Given the description of an element on the screen output the (x, y) to click on. 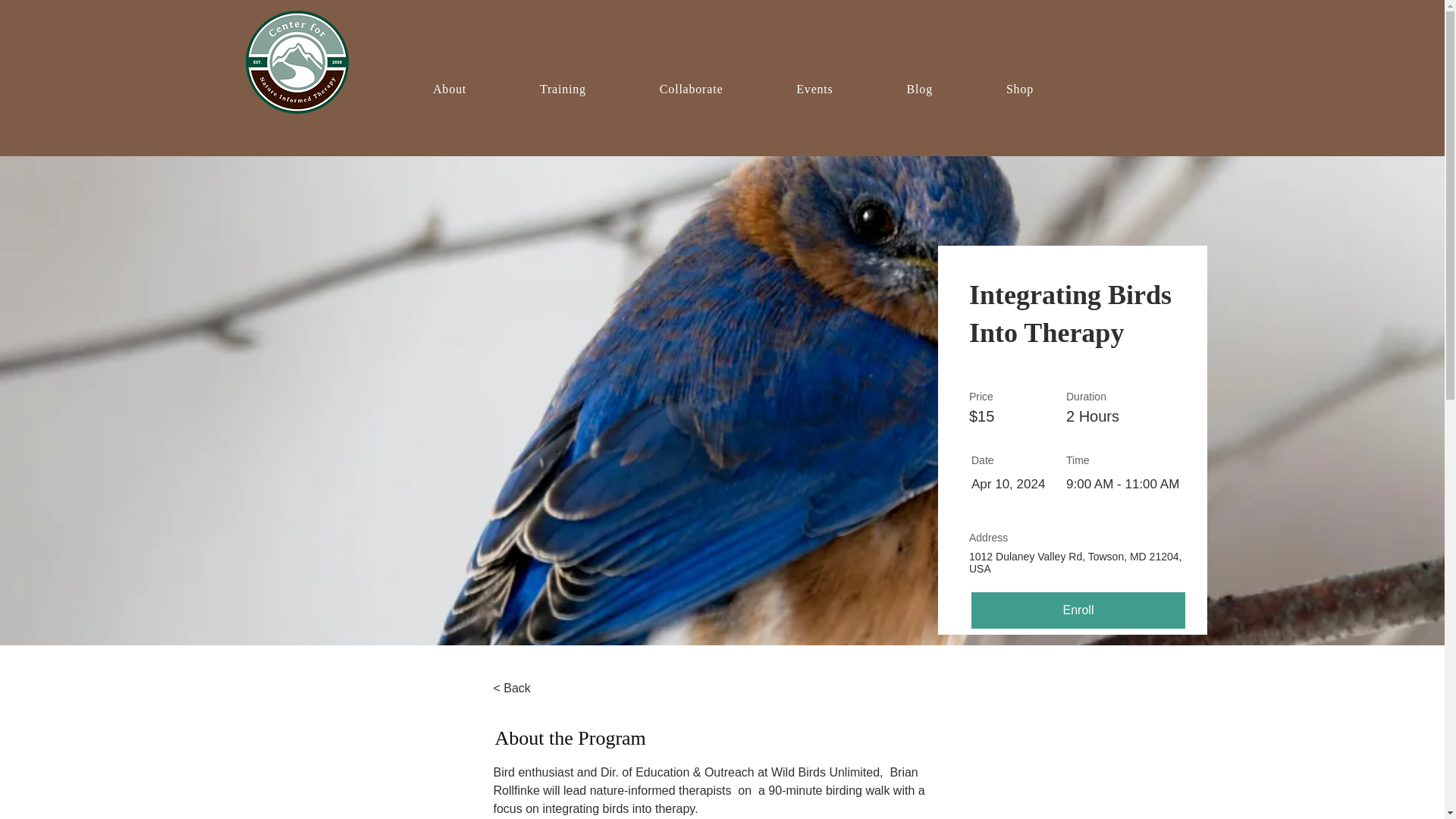
Shop (1019, 89)
Events (814, 89)
Collaborate (690, 89)
Enroll (1078, 610)
Blog (919, 89)
About (448, 89)
Training (562, 89)
